Given the description of an element on the screen output the (x, y) to click on. 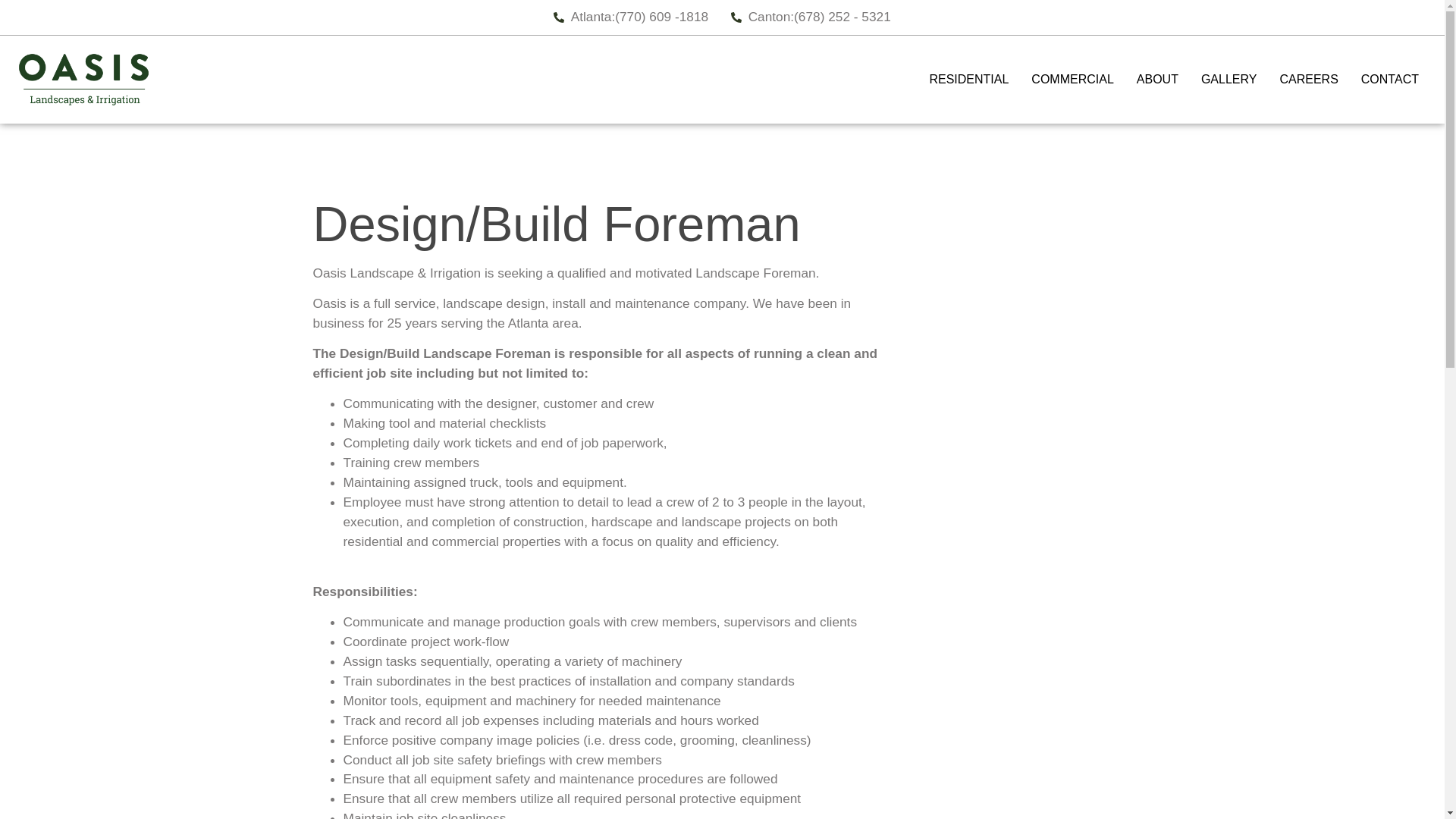
COMMERCIAL (1072, 79)
CONTACT (1389, 79)
GALLERY (1228, 79)
RESIDENTIAL (968, 79)
ABOUT (1157, 79)
CAREERS (1308, 79)
